Given the description of an element on the screen output the (x, y) to click on. 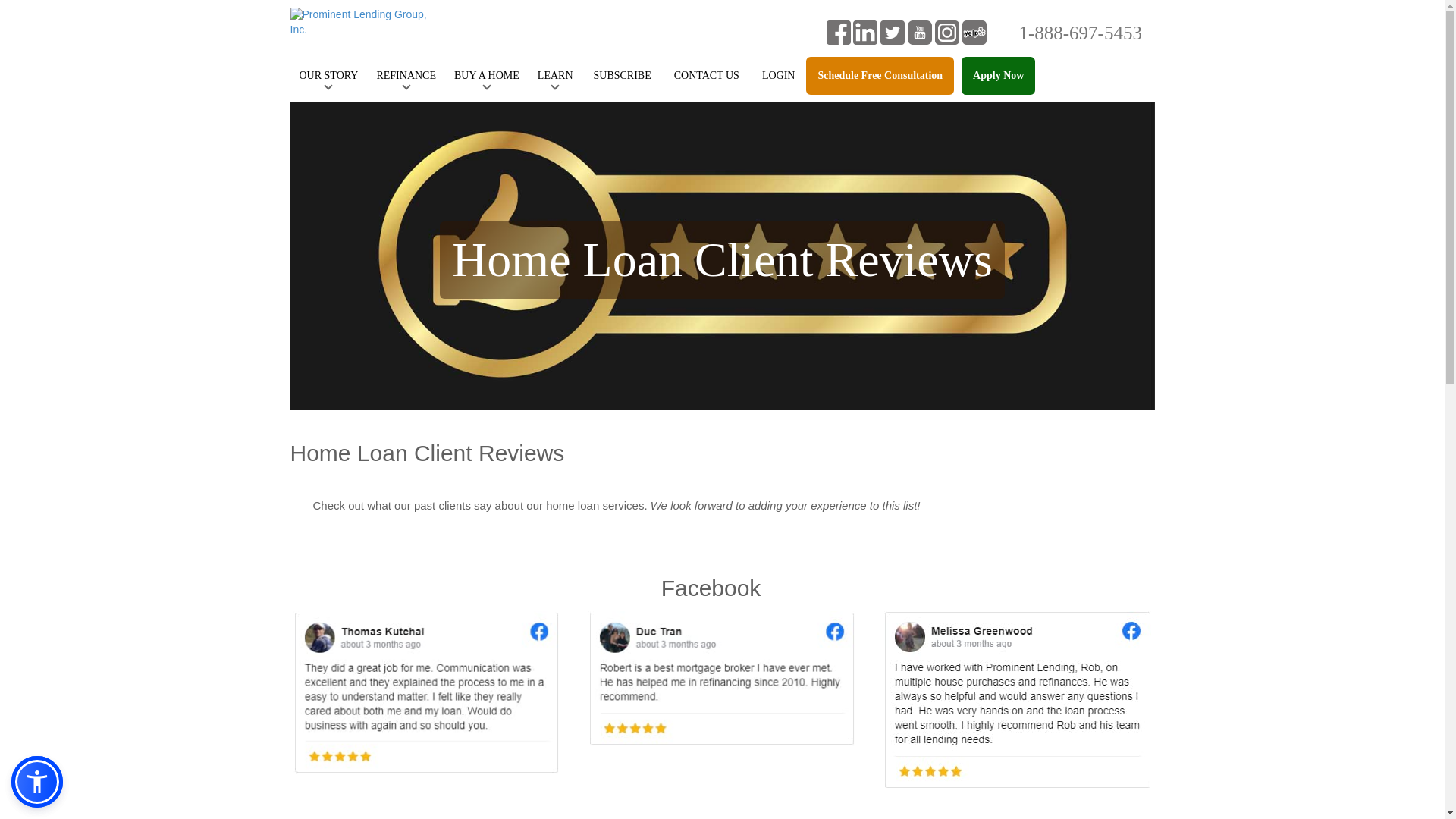
LOGIN (778, 75)
Youtube (919, 31)
LEARN (555, 75)
Yelp (974, 31)
Instagram (946, 31)
REFINANCE (405, 75)
Facebook (838, 31)
OUR STORY (327, 75)
CONTACT US (706, 75)
BUY A HOME (486, 75)
Twitter (892, 31)
Apply Now (997, 75)
SUBSCRIBE (622, 75)
LinkedIn (865, 31)
Schedule Free Consultation (879, 75)
